Given the description of an element on the screen output the (x, y) to click on. 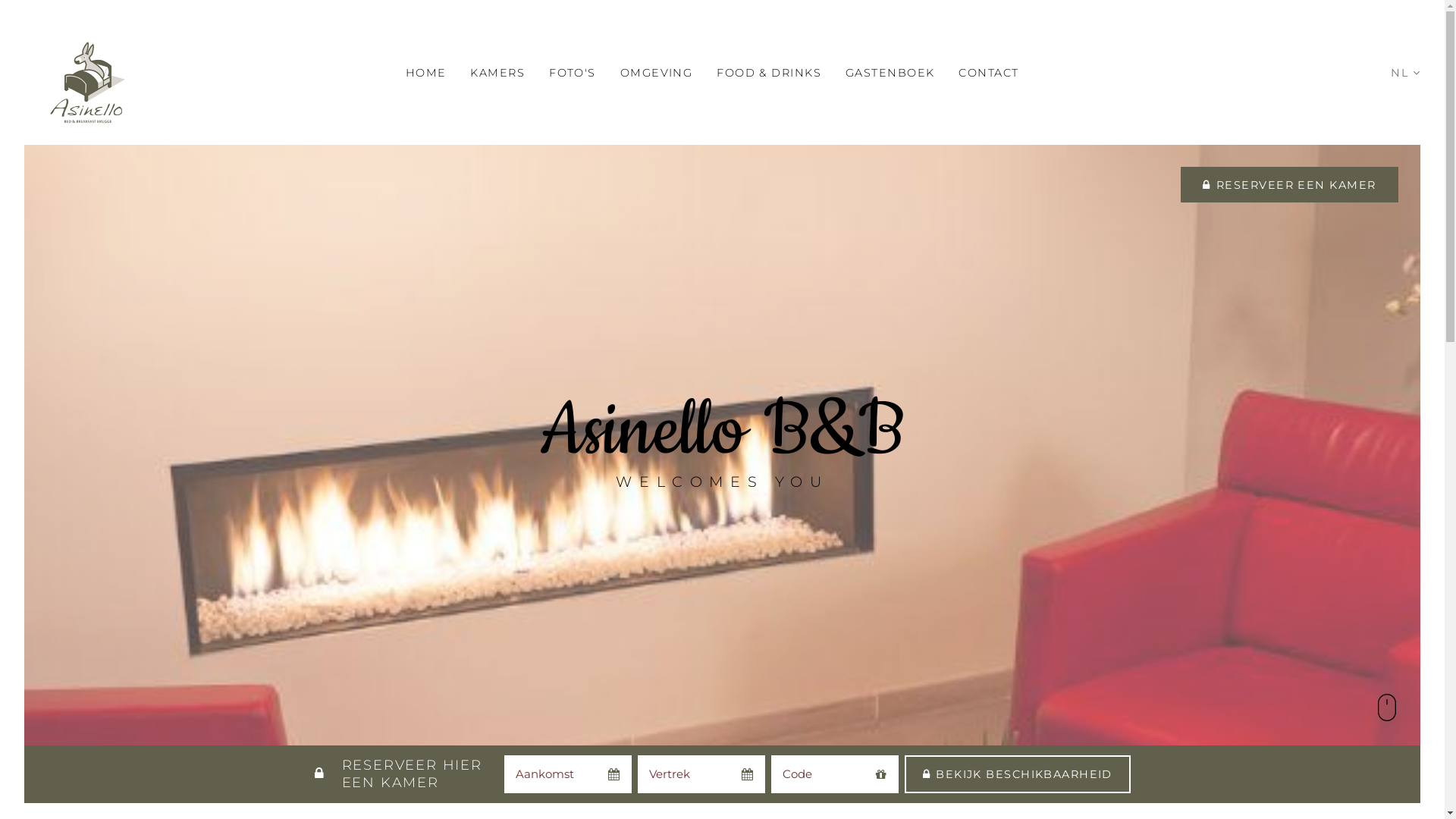
HOME Element type: text (425, 72)
KAMERS Element type: text (497, 72)
BEKIJK BESCHIKBAARHEID Element type: text (1017, 774)
CONTACT Element type: text (988, 72)
NL Element type: text (1405, 72)
FOOD & DRINKS Element type: text (768, 72)
OMGEVING Element type: text (656, 72)
FOTO'S Element type: text (572, 72)
GASTENBOEK Element type: text (889, 72)
RESERVEER EEN KAMER Element type: text (1289, 184)
